Given the description of an element on the screen output the (x, y) to click on. 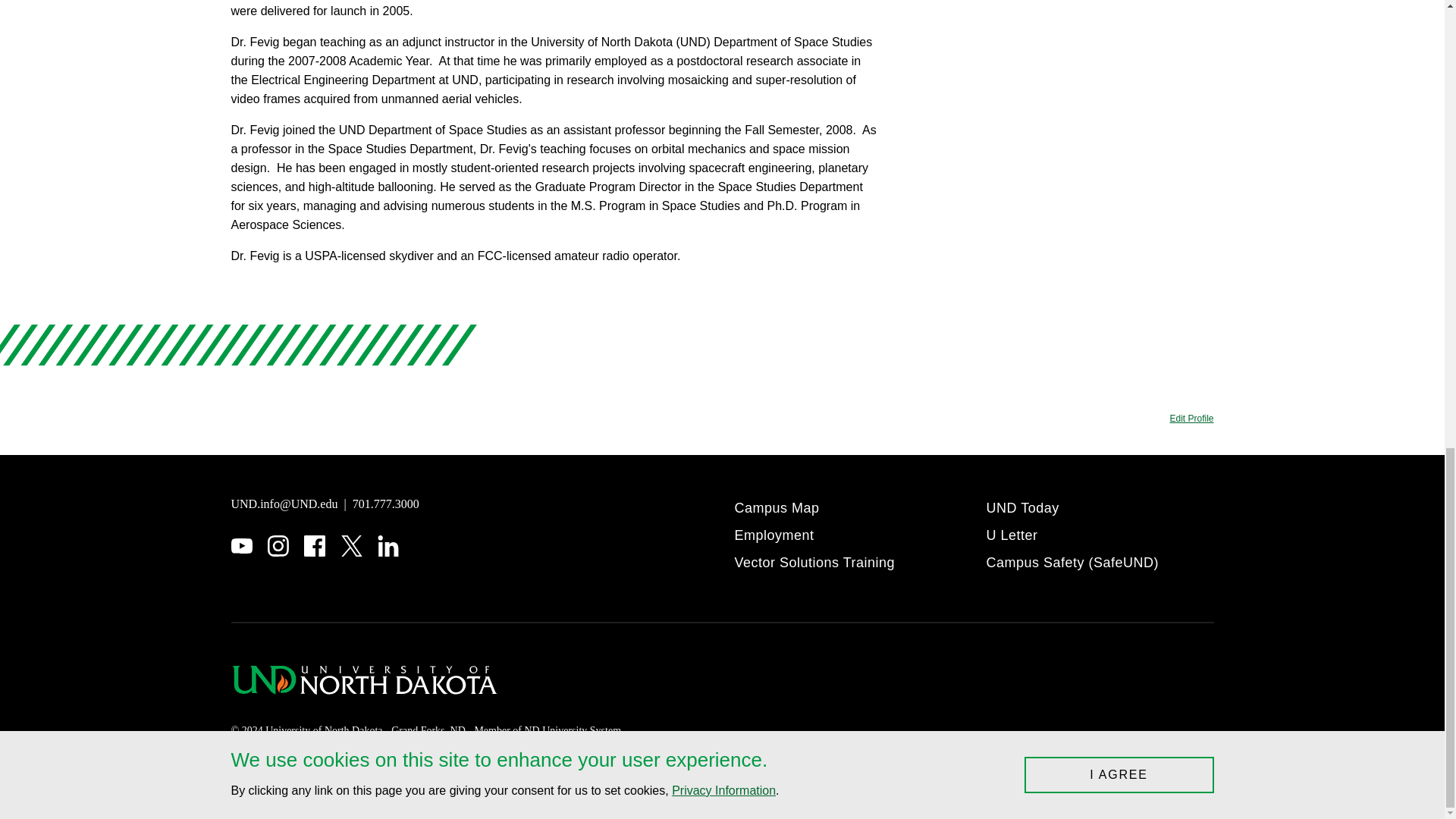
Twitter (351, 545)
LinkedIn (387, 545)
YouTube (240, 545)
Facebook (314, 545)
Instagram (277, 545)
